Given the description of an element on the screen output the (x, y) to click on. 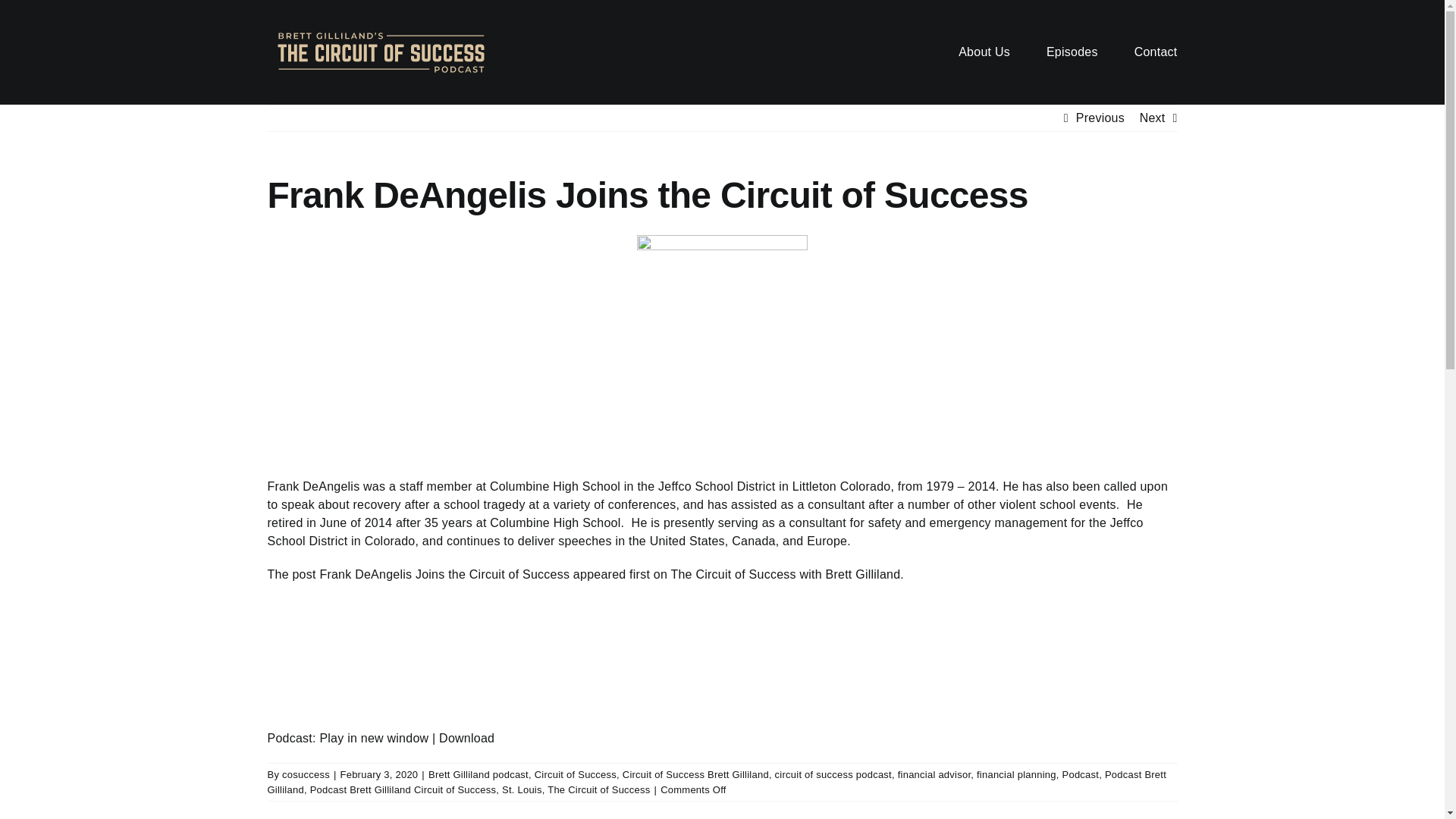
circuit of success podcast (832, 774)
Next (1153, 118)
financial advisor (934, 774)
Previous (1099, 118)
The Circuit of Success with Brett Gilliland (784, 574)
cosuccess (306, 774)
Play in new window (373, 738)
Frank DeAngelis Joins the Circuit of Success (443, 574)
Download (467, 738)
St. Louis (521, 789)
Posts by cosuccess (306, 774)
Podcast (1080, 774)
Play in new window (373, 738)
Circuit of Success (574, 774)
financial planning (1016, 774)
